Given the description of an element on the screen output the (x, y) to click on. 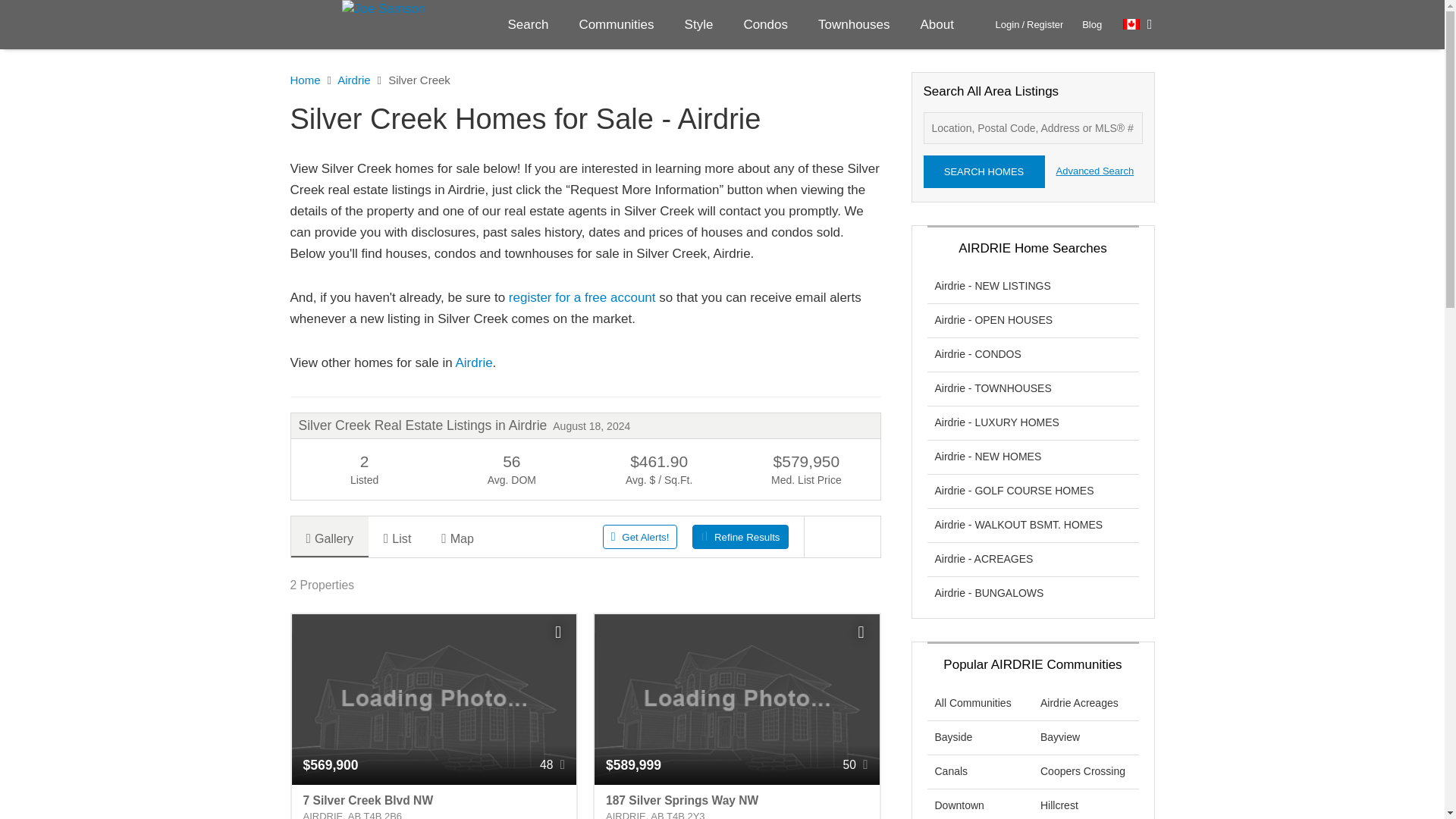
7 Silver Creek Blvd NW Airdrie,  AB T4B 2B6 (433, 801)
Style (699, 24)
Select Language (1137, 24)
Communities (615, 24)
Search (528, 24)
187 Silver Springs Way NW Airdrie,  AB T4B 2Y3 (736, 801)
View ALL listings for sale in AIRDRIE, AB. (473, 362)
